Given the description of an element on the screen output the (x, y) to click on. 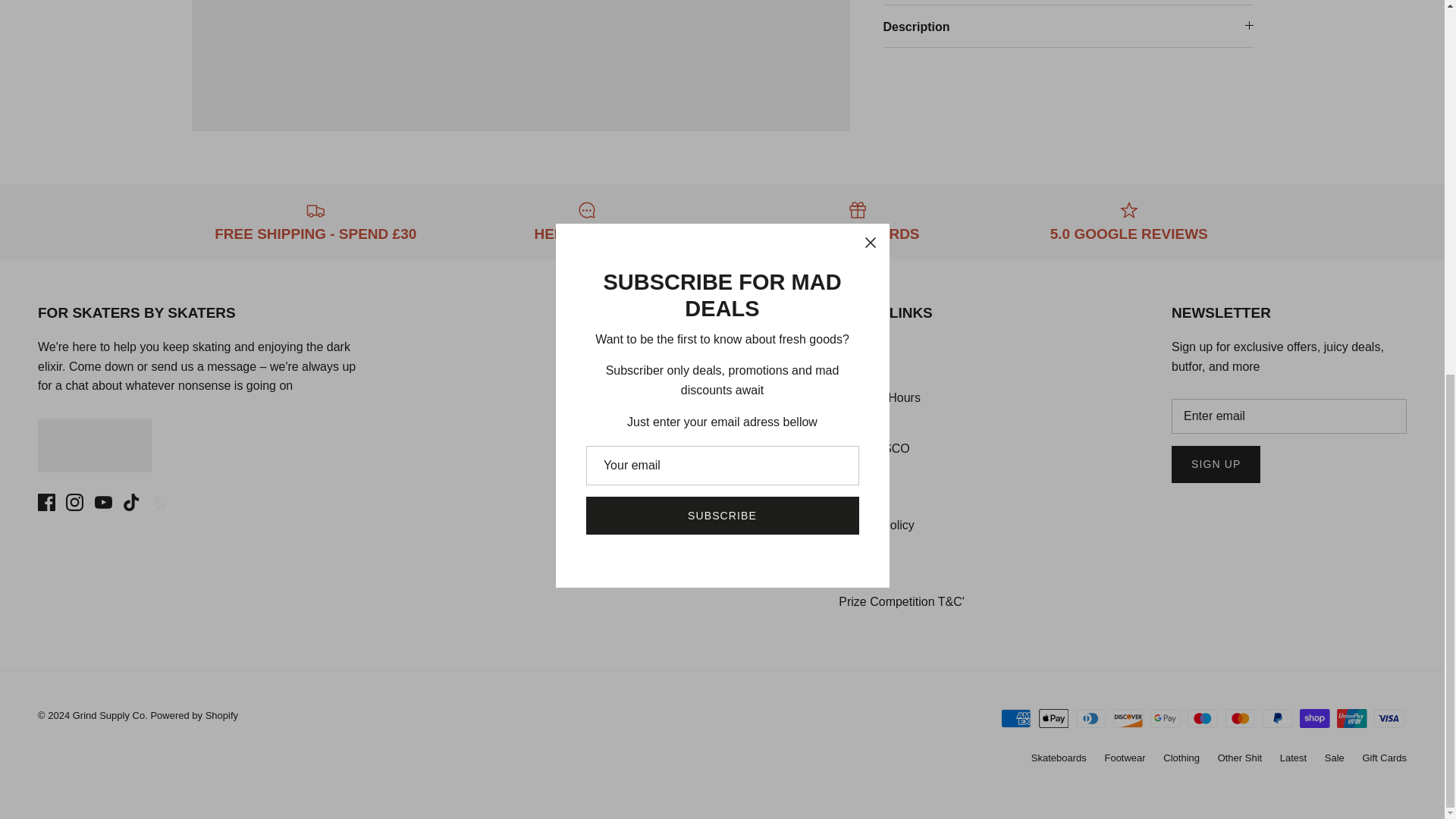
American Express (1015, 718)
Youtube (103, 502)
Facebook (46, 502)
Instagram (73, 502)
